Given the description of an element on the screen output the (x, y) to click on. 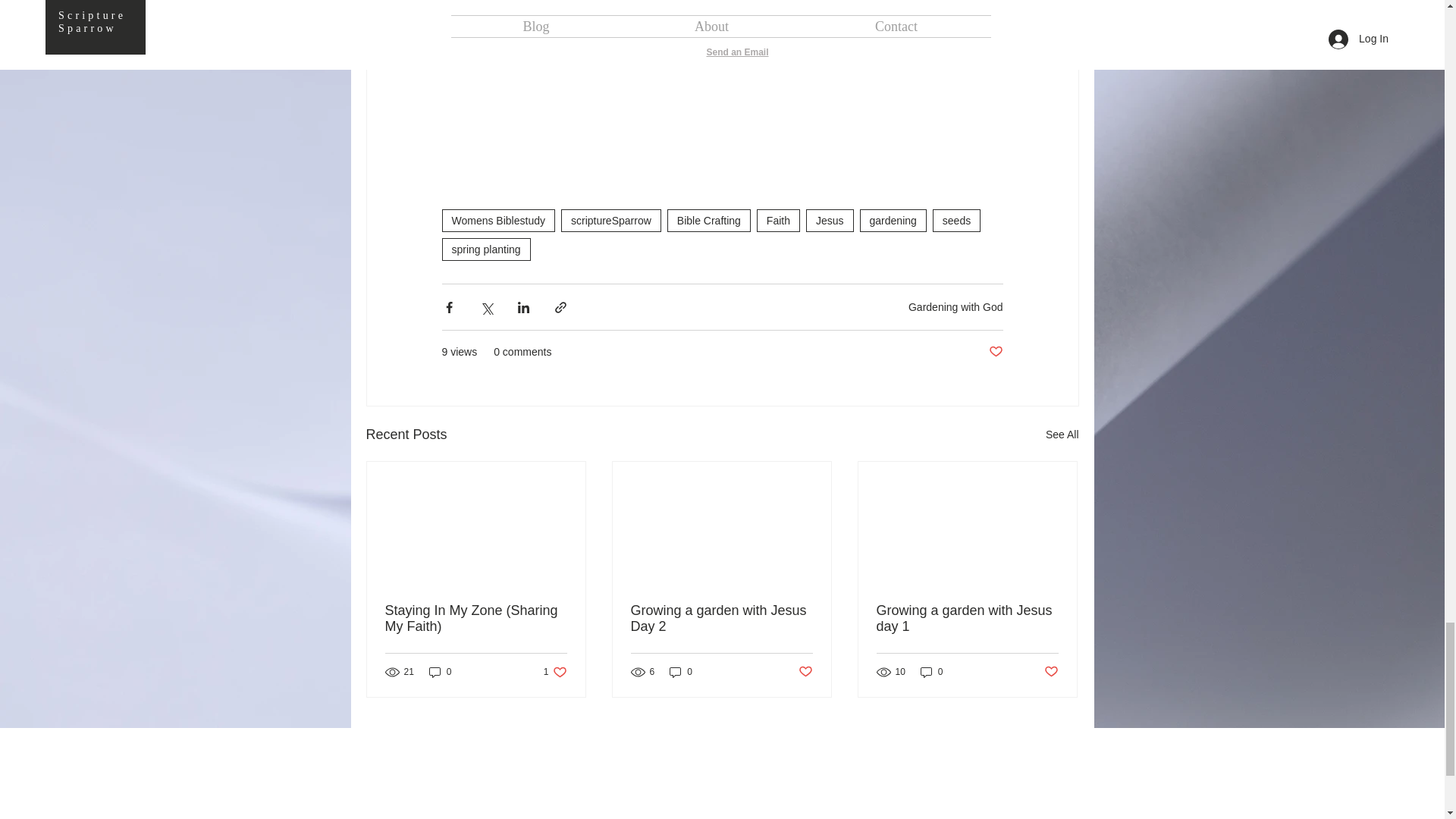
Jesus (829, 220)
scriptureSparrow (610, 220)
seeds (956, 220)
Faith (778, 220)
gardening (893, 220)
Bible Crafting (708, 220)
Womens Biblestudy (497, 220)
spring planting (485, 249)
